Given the description of an element on the screen output the (x, y) to click on. 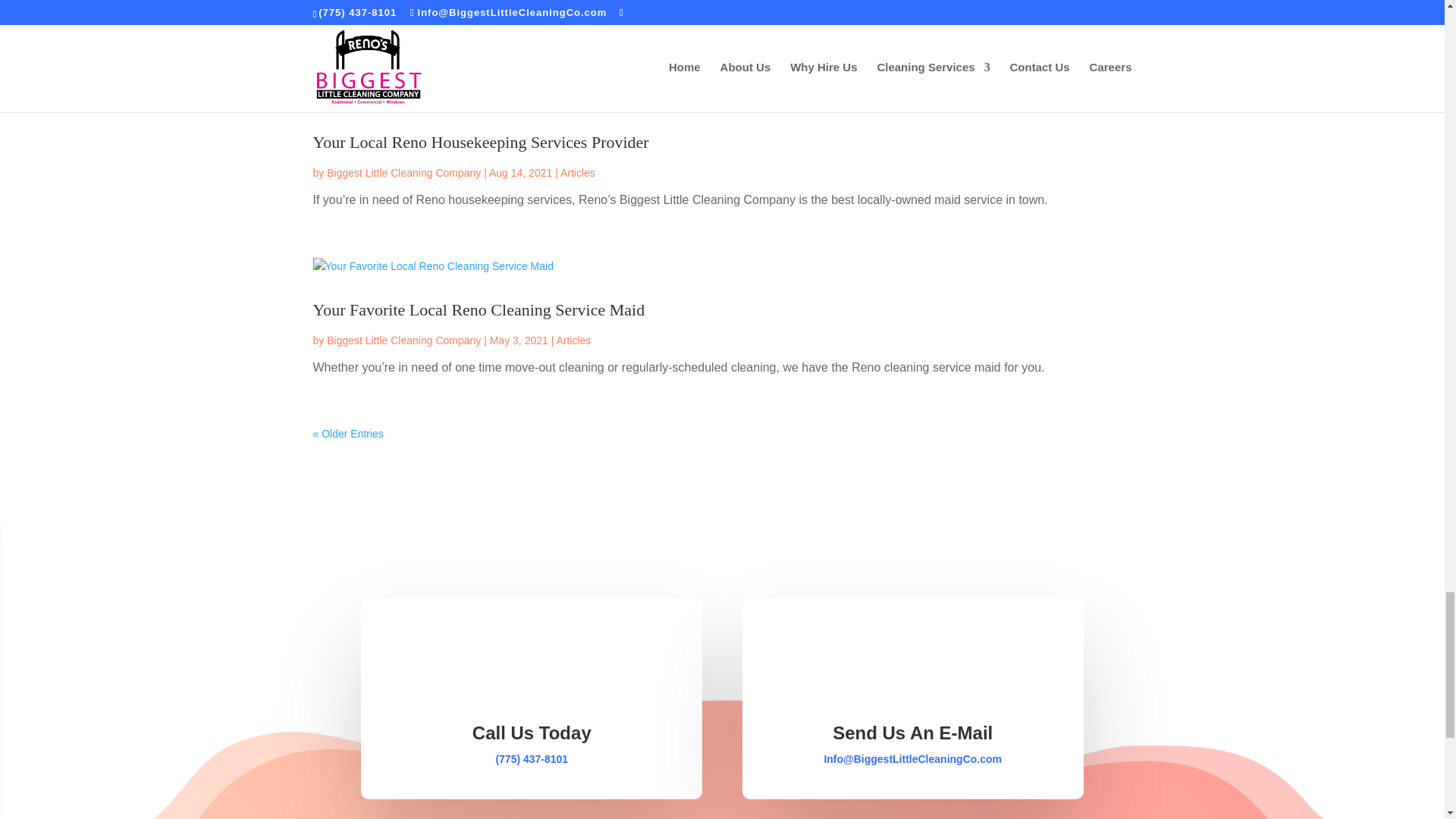
Posts by Biggest Little Cleaning Company (403, 340)
Posts by Biggest Little Cleaning Company (403, 173)
Posts by Biggest Little Cleaning Company (403, 6)
